Given the description of an element on the screen output the (x, y) to click on. 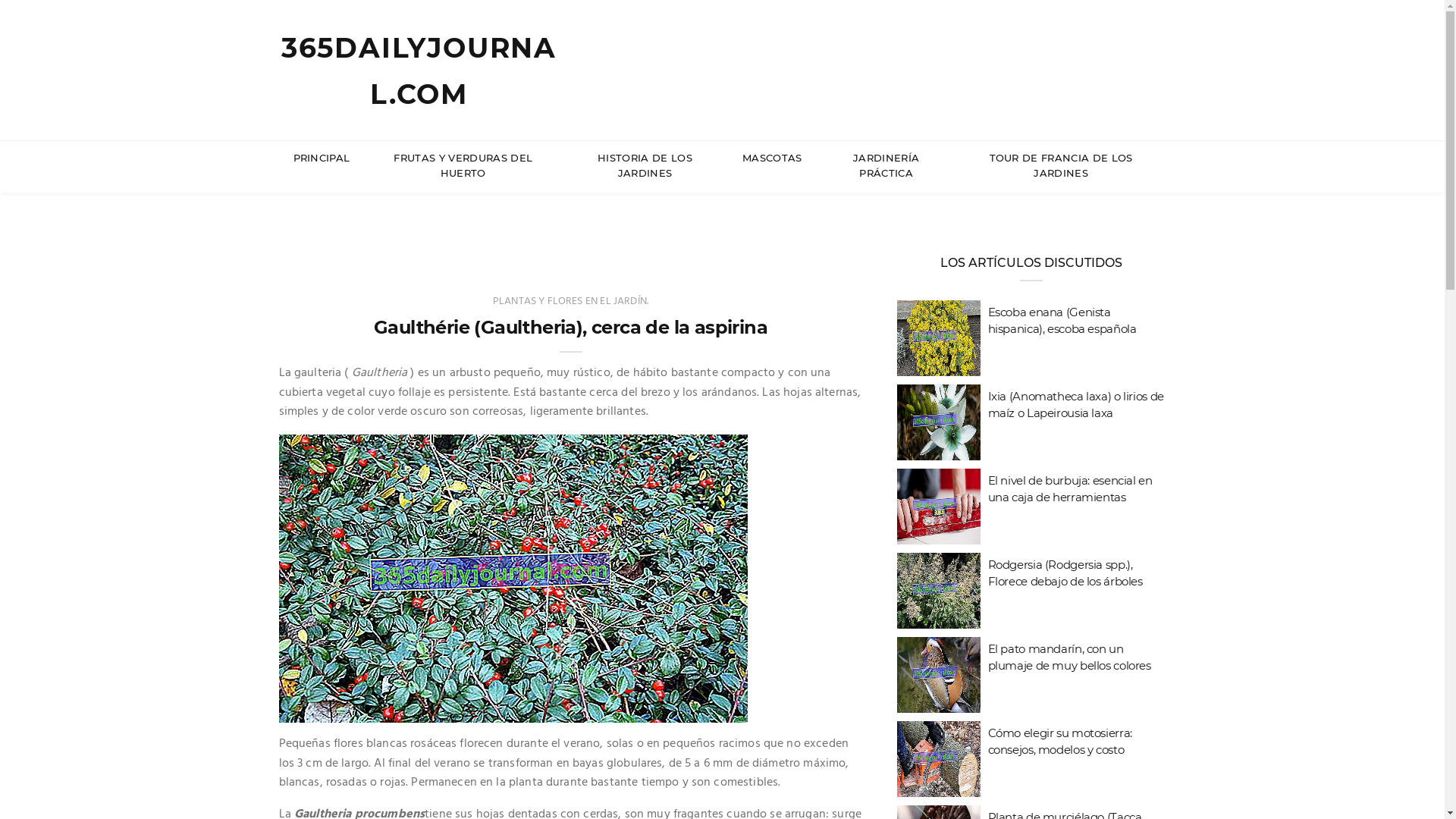
MASCOTAS Element type: text (772, 158)
365DAILYJOURNAL.COM Element type: text (418, 70)
TOUR DE FRANCIA DE LOS JARDINES Element type: text (1060, 165)
HISTORIA DE LOS JARDINES Element type: text (644, 165)
El nivel de burbuja: esencial en una caja de herramientas Element type: text (1069, 488)
PRINCIPAL Element type: text (320, 158)
FRUTAS Y VERDURAS DEL HUERTO Element type: text (462, 165)
